Given the description of an element on the screen output the (x, y) to click on. 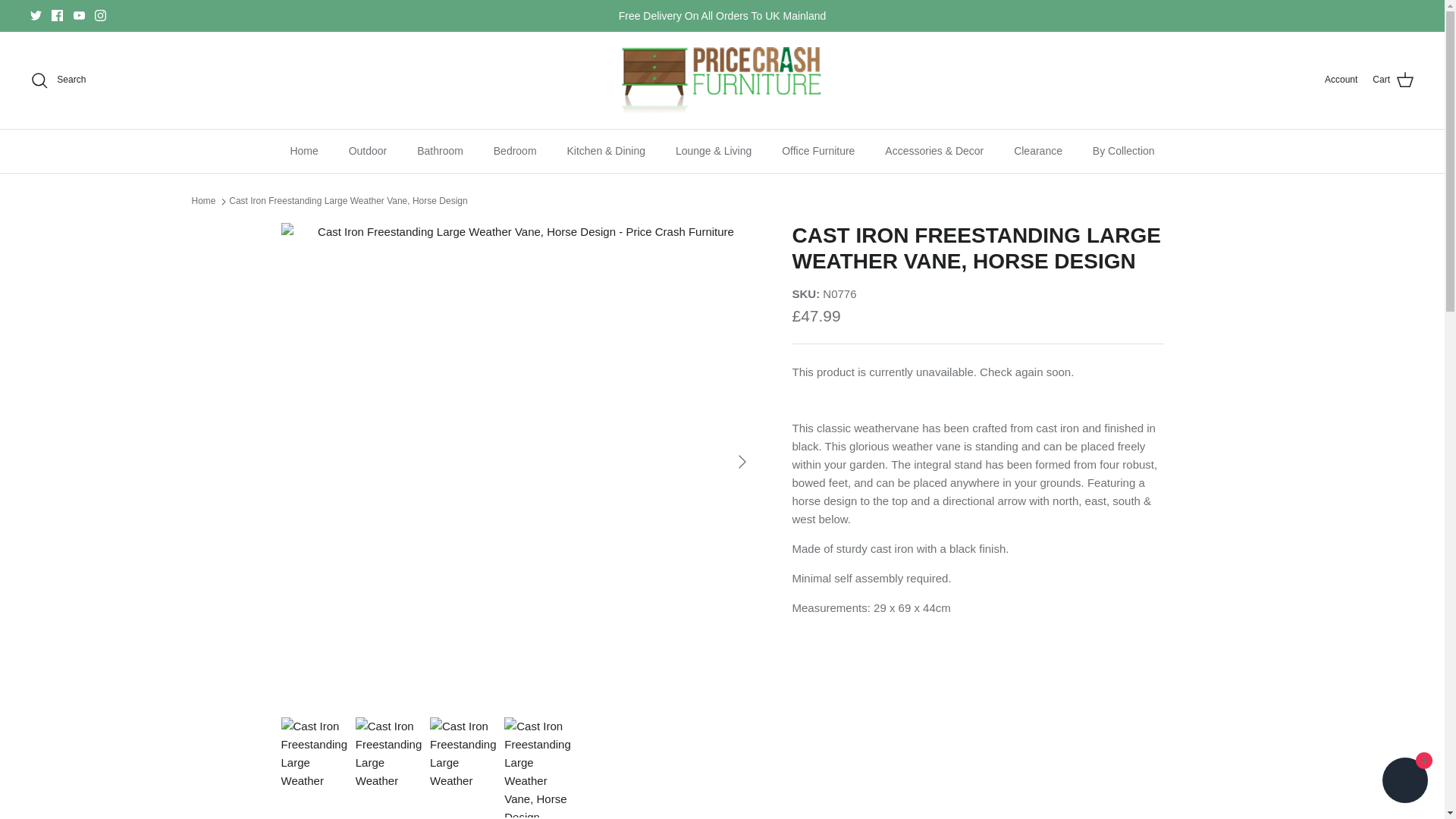
Youtube (79, 15)
Youtube (79, 15)
Cart (1393, 80)
Facebook (56, 15)
Outdoor (367, 150)
Instagram (100, 15)
Account (1340, 79)
Price Crash Furniture (721, 79)
Facebook (56, 15)
Twitter (36, 15)
Twitter (36, 15)
Bathroom (440, 150)
Shopify online store chat (1404, 781)
RIGHT (741, 461)
Search (57, 80)
